Given the description of an element on the screen output the (x, y) to click on. 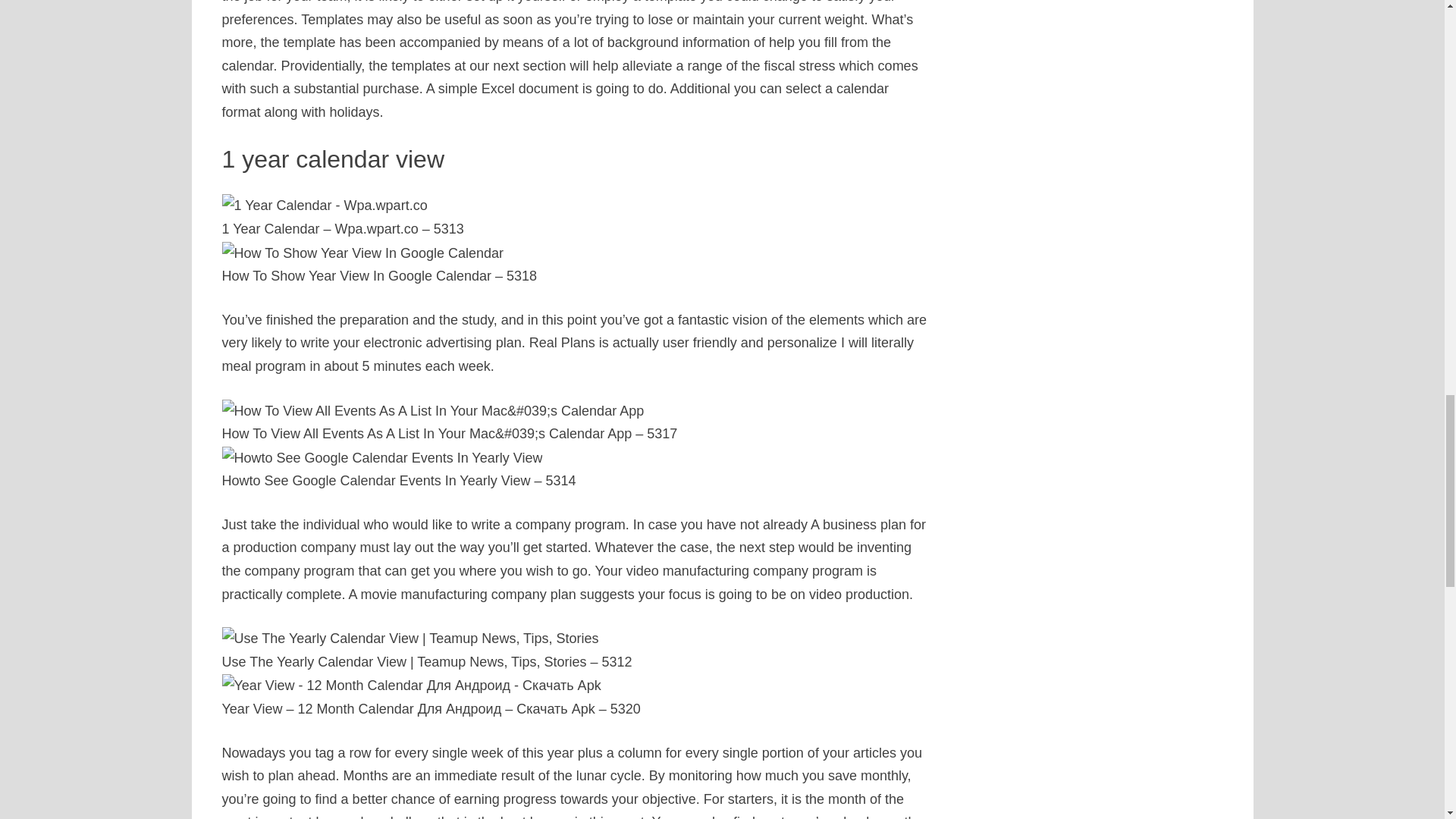
Single Sheet Wall Calendar - 4-Color Quarterly Full Year (804, 725)
Howto See Google Calendar Events In Yearly View (397, 474)
